Given the description of an element on the screen output the (x, y) to click on. 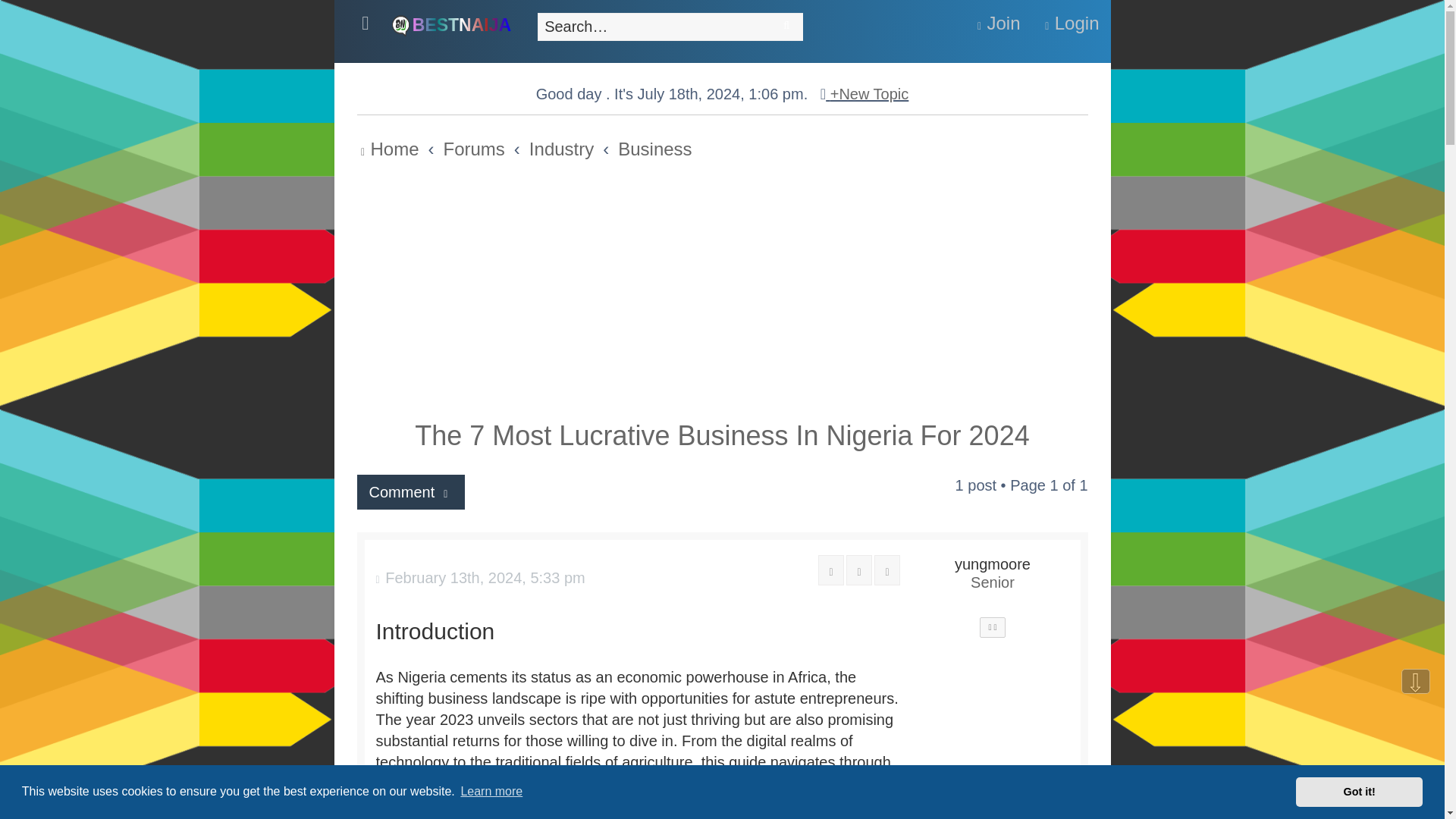
The 7 Most Lucrative Business In Nigeria For 2024 (721, 435)
Login (1070, 23)
Login (1070, 23)
Mention user (991, 627)
Home (450, 24)
Forums (474, 148)
Post a reply (410, 492)
yungmoore (992, 564)
Post (480, 577)
Comment (410, 492)
Industry (561, 148)
Learn more (491, 791)
Business (654, 148)
Join (1000, 23)
Business (654, 148)
